Given the description of an element on the screen output the (x, y) to click on. 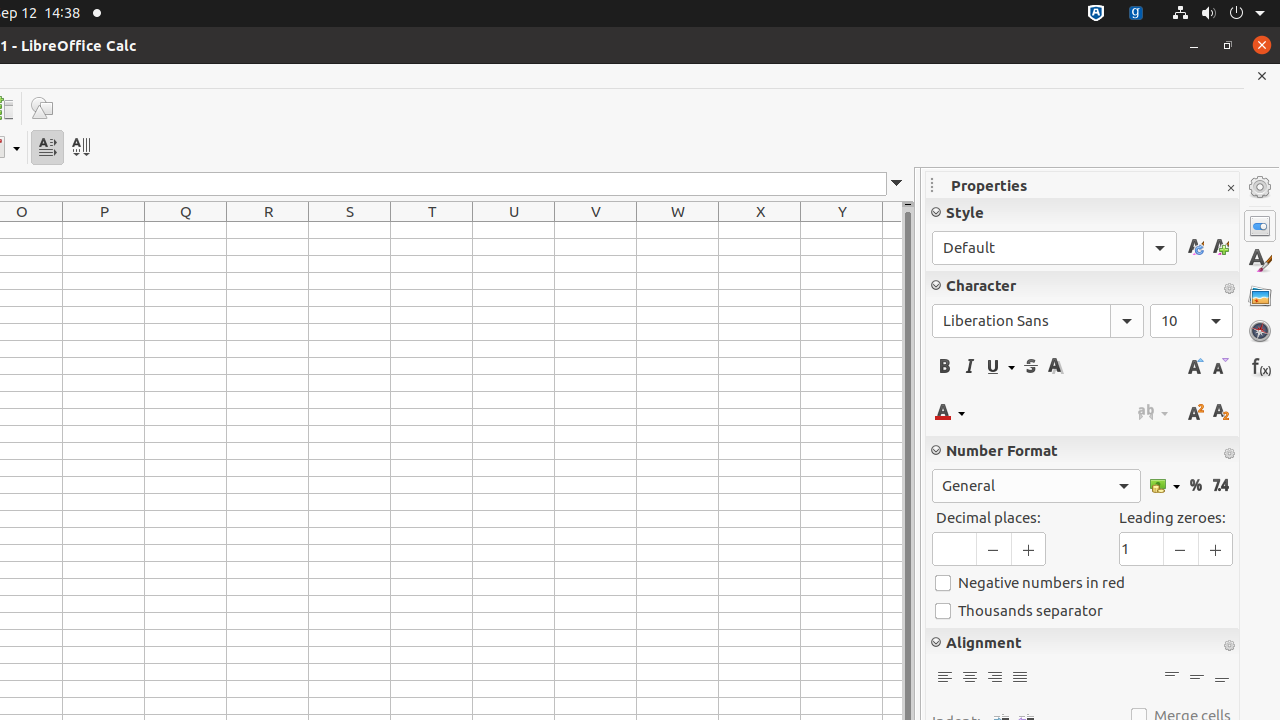
Center Vertically Element type: toggle-button (1196, 677)
Expand Formula Bar Element type: push-button (897, 183)
Q1 Element type: table-cell (186, 230)
Superscript Element type: push-button (1195, 412)
Align Center Element type: toggle-button (969, 677)
